Given the description of an element on the screen output the (x, y) to click on. 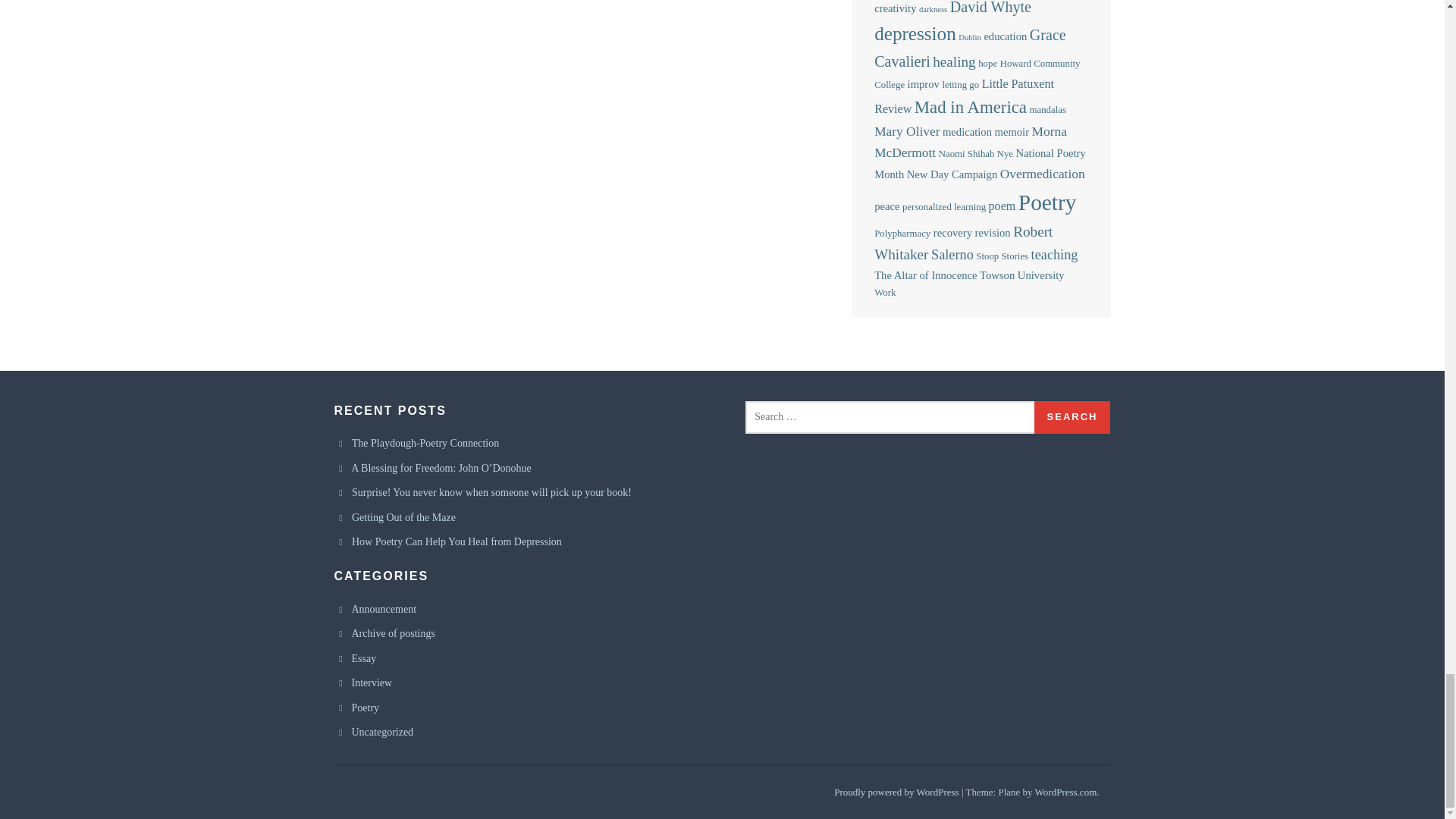
Search (1071, 417)
Search (1071, 417)
